Given the description of an element on the screen output the (x, y) to click on. 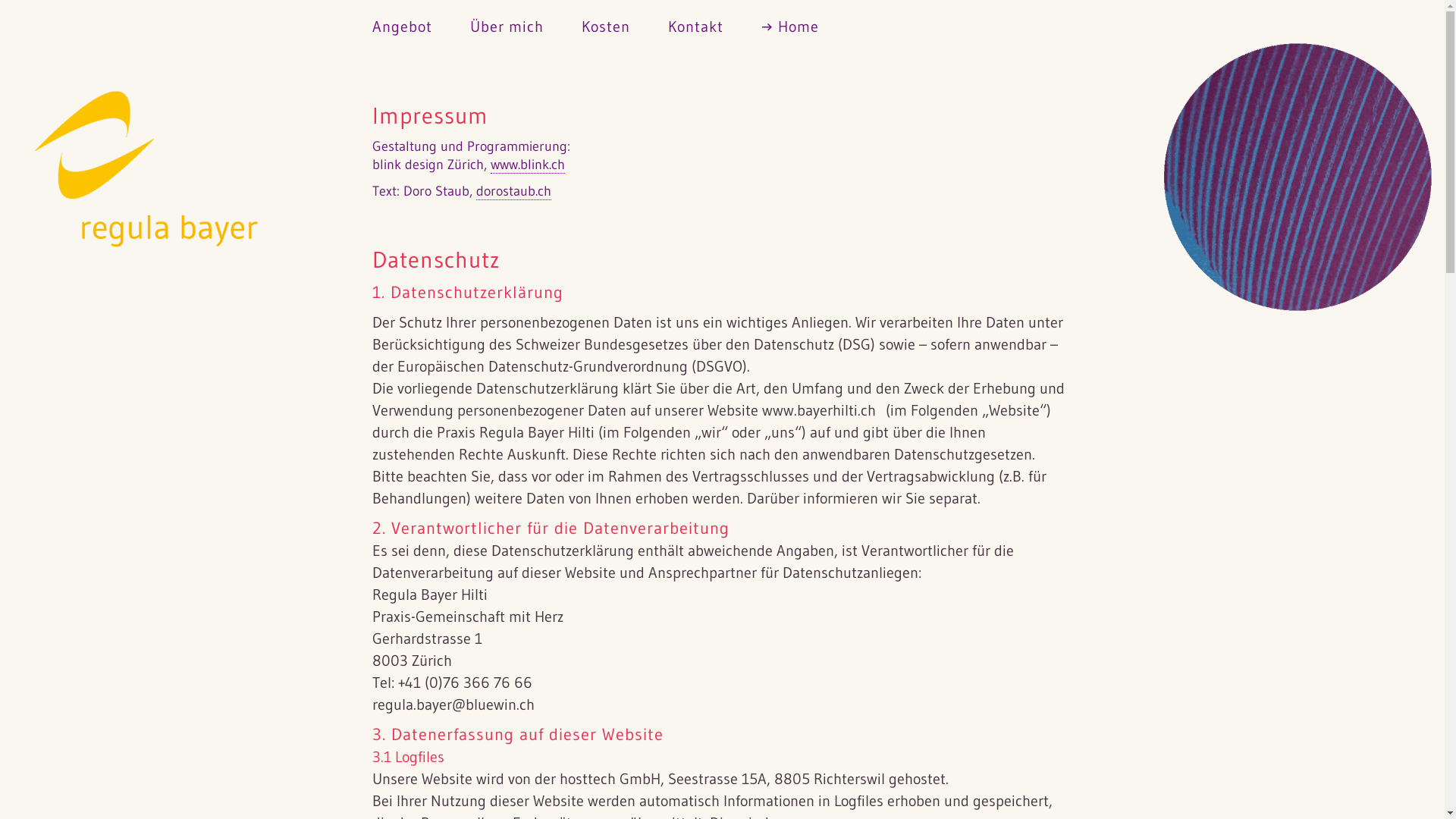
Kosten Element type: text (605, 23)
Kontakt Element type: text (695, 23)
Angebot Element type: text (402, 23)
dorostaub.ch Element type: text (513, 191)
www.blink.ch Element type: text (527, 164)
